Given the description of an element on the screen output the (x, y) to click on. 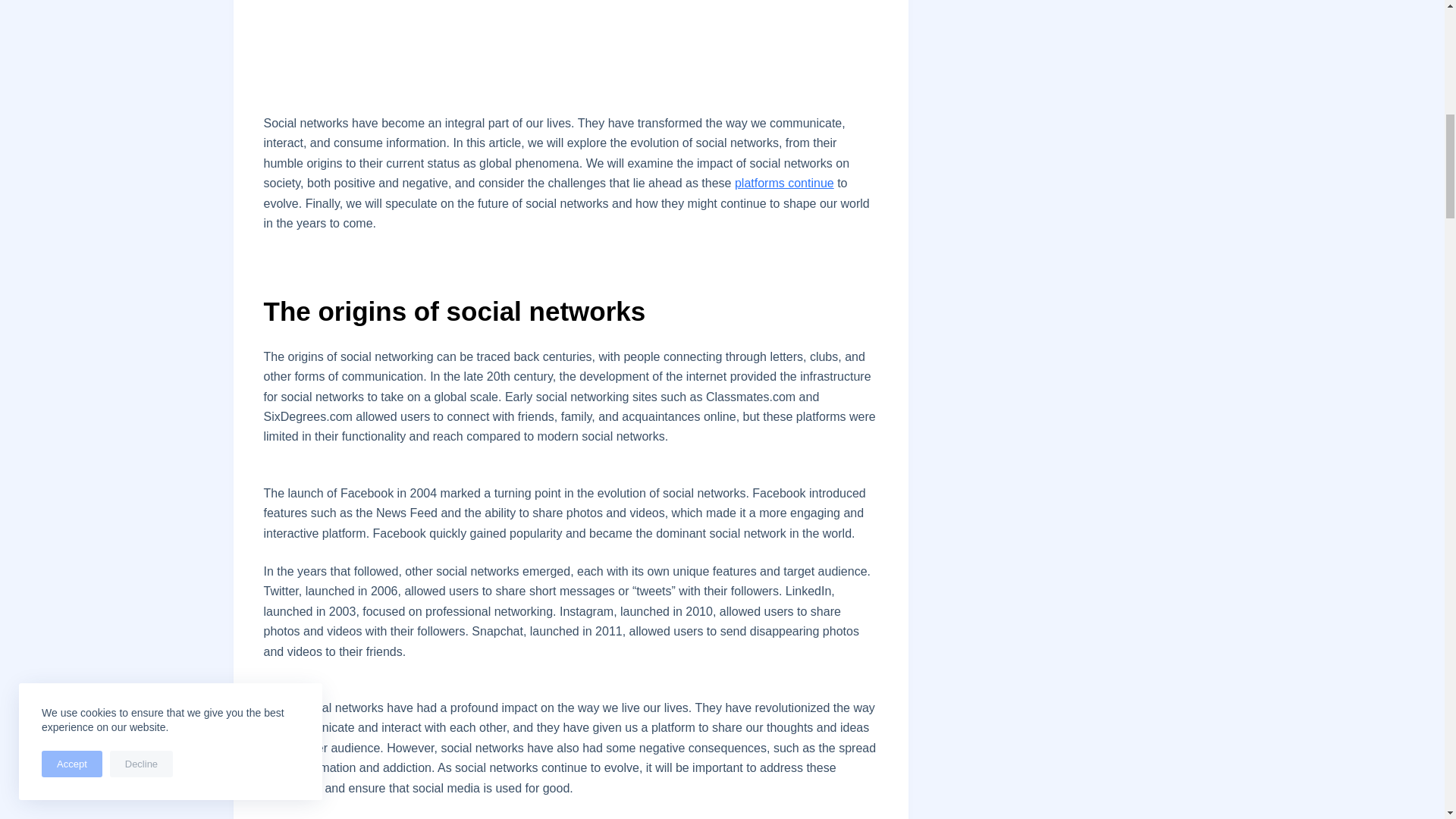
The Evolution of Social Networks: A Historical Perspective 1 (570, 38)
platforms continue (784, 182)
